Given the description of an element on the screen output the (x, y) to click on. 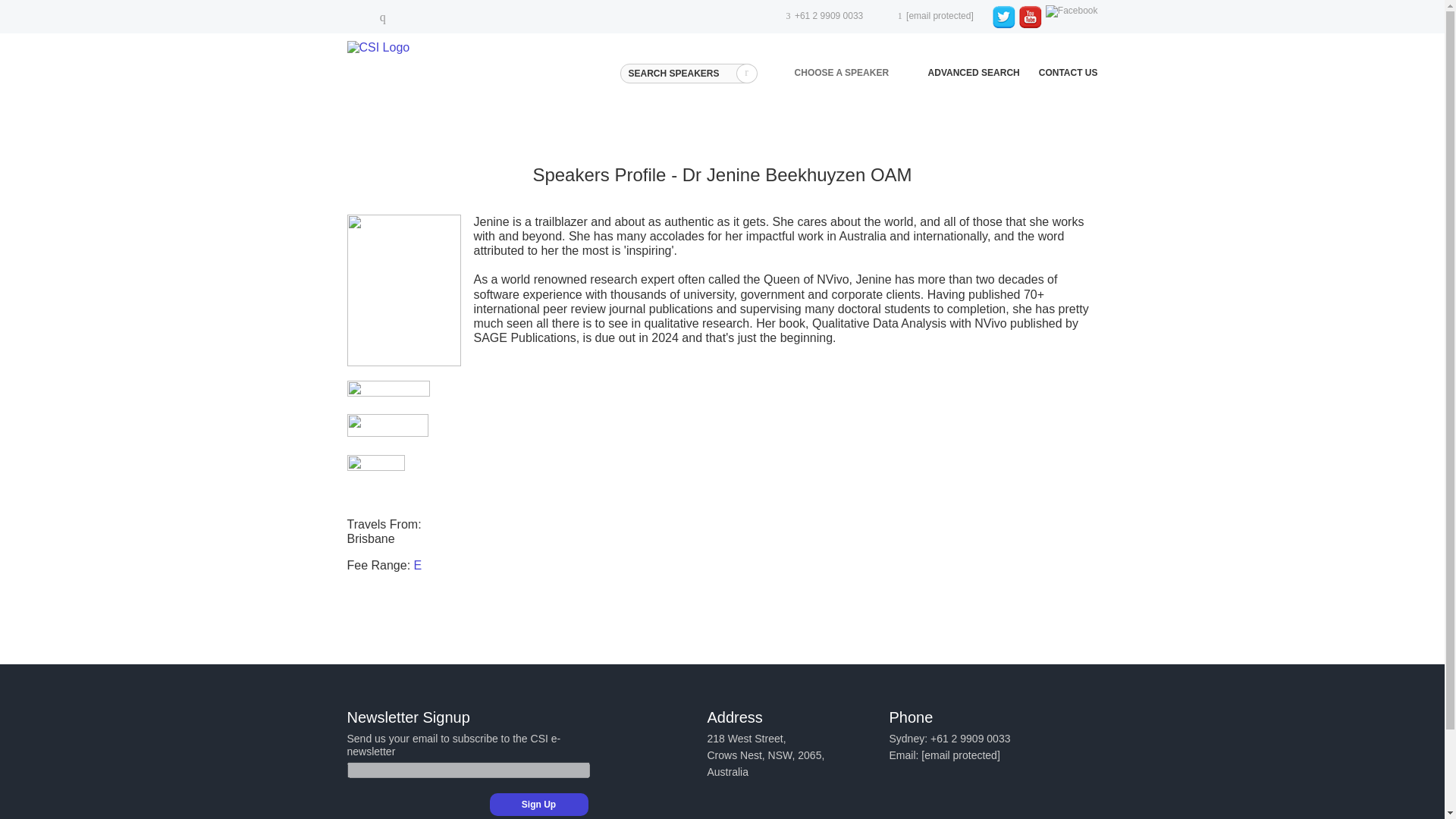
CONTACT US (1068, 72)
SEARCH SPEAKERS (687, 73)
Sign Up (538, 804)
Sign Up (538, 804)
ADVANCED SEARCH (974, 72)
SEARCH SPEAKERS (687, 73)
